Given the description of an element on the screen output the (x, y) to click on. 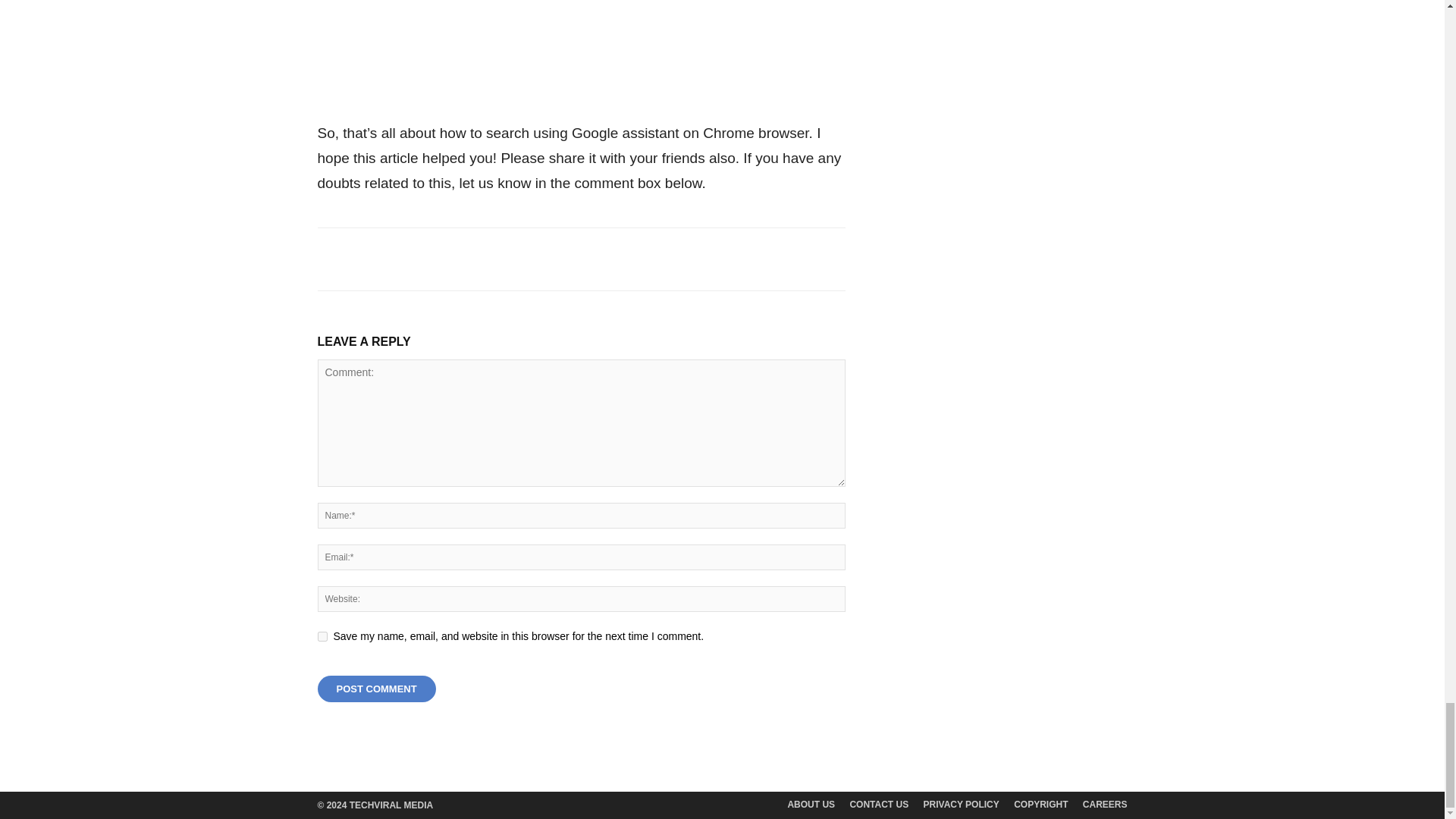
Post Comment (376, 688)
yes (321, 636)
